Given the description of an element on the screen output the (x, y) to click on. 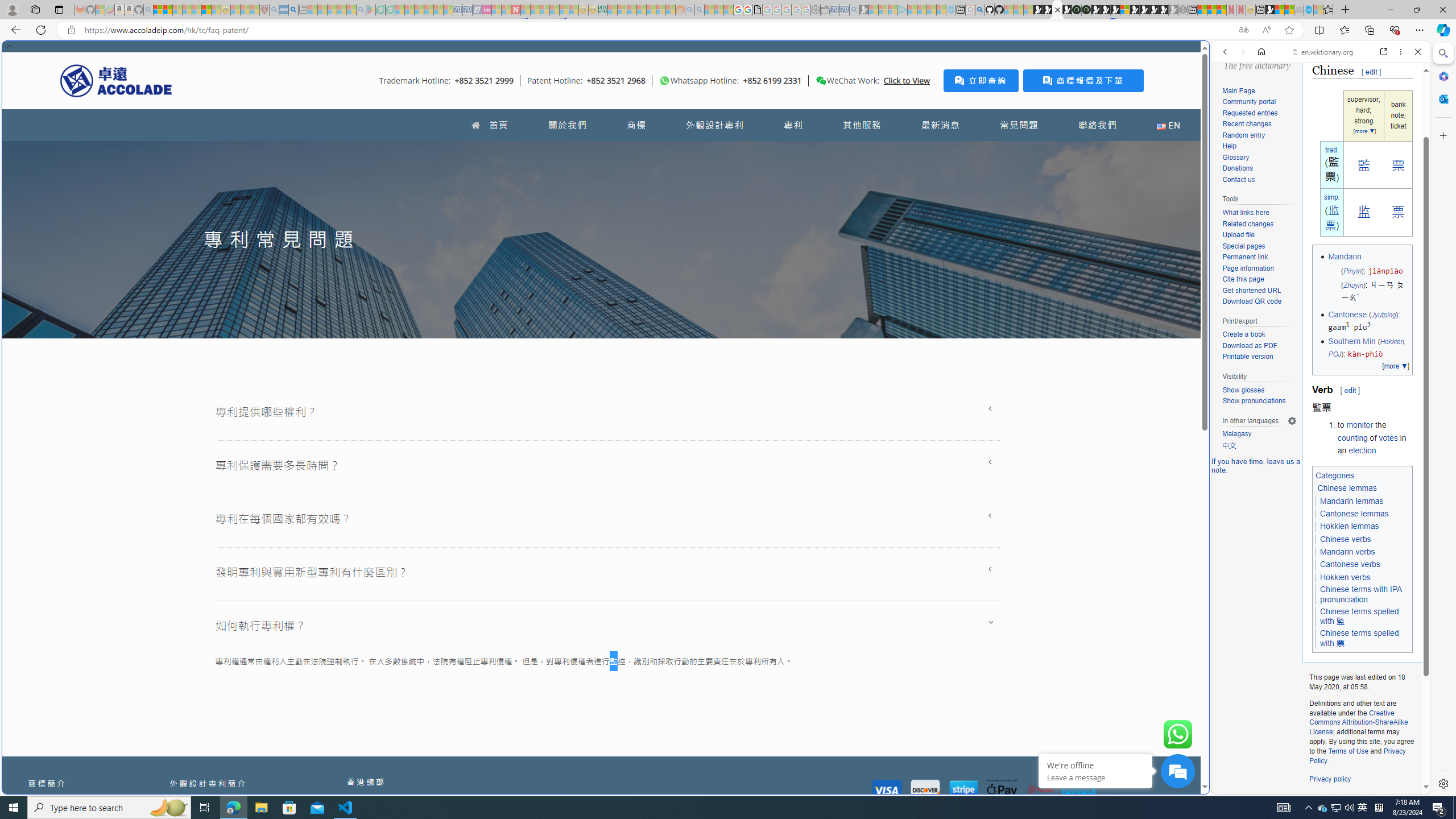
Donations (1237, 168)
Pinyin (1351, 270)
utah sues federal government - Search (922, 389)
counting (1351, 437)
Settings - Sleeping (815, 9)
Upload file (1238, 234)
Actions for this site (1370, 583)
